Given the description of an element on the screen output the (x, y) to click on. 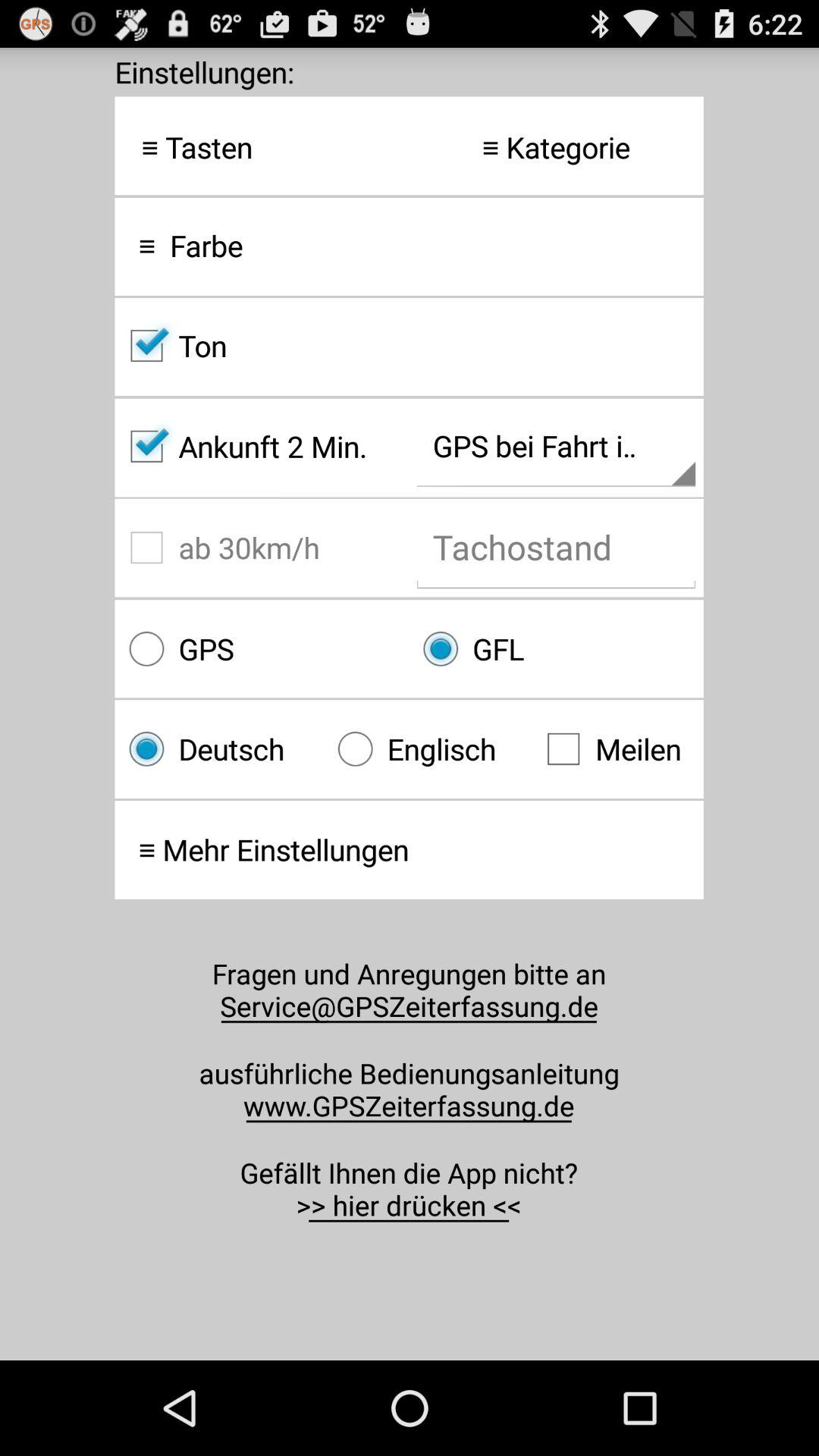
choose the checkbox below the ton checkbox (261, 446)
